Given the description of an element on the screen output the (x, y) to click on. 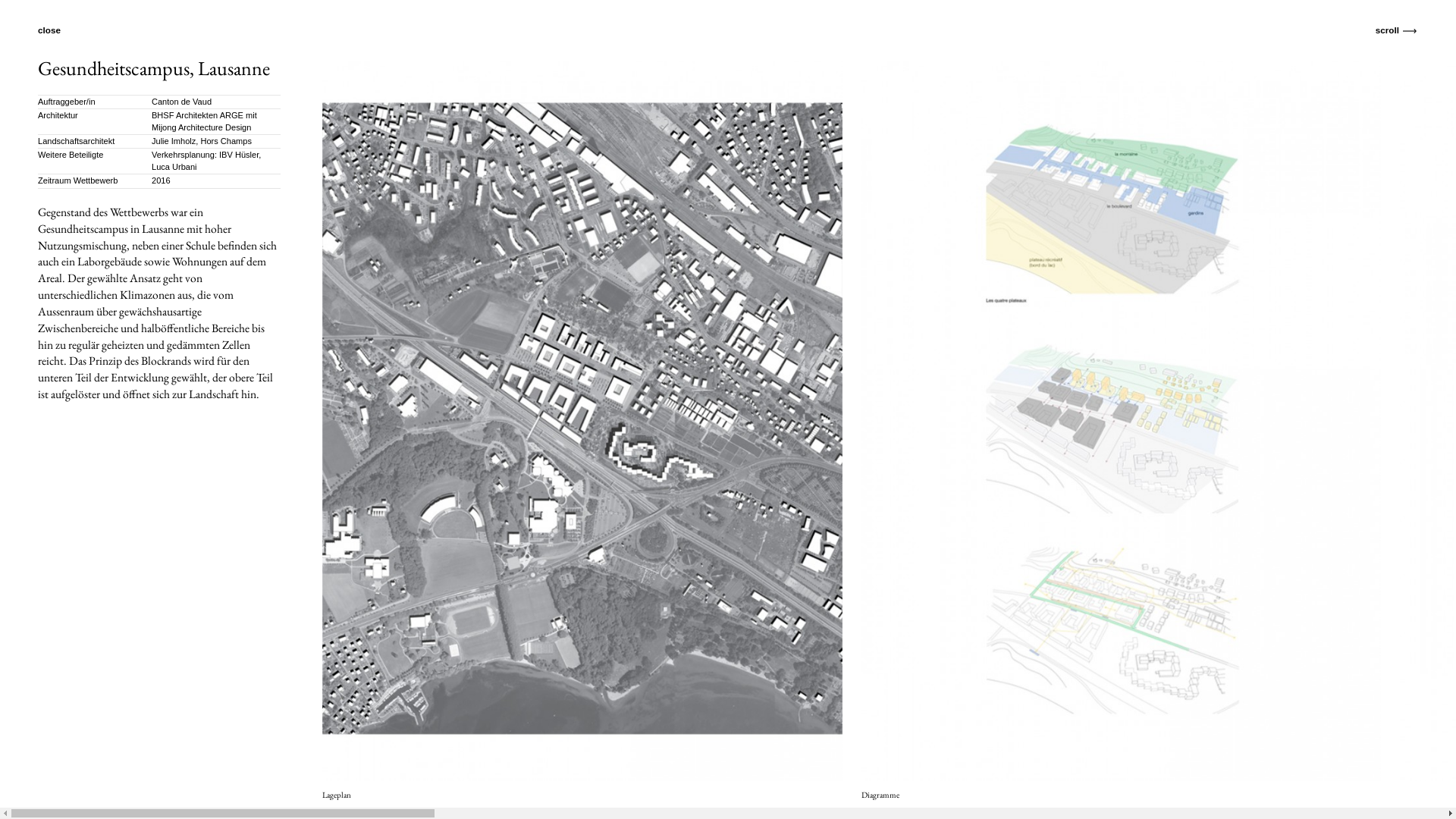
close Element type: text (56, 30)
